Given the description of an element on the screen output the (x, y) to click on. 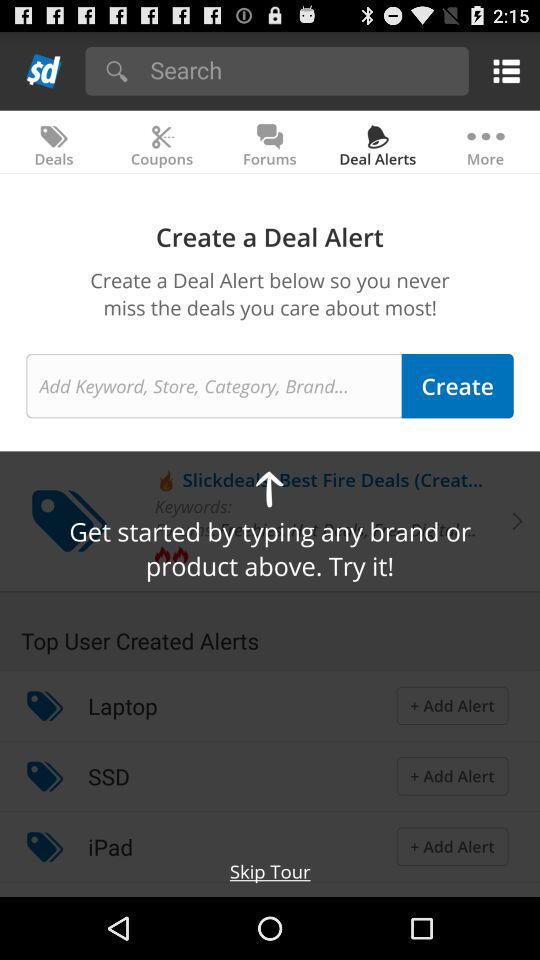
search (302, 69)
